Given the description of an element on the screen output the (x, y) to click on. 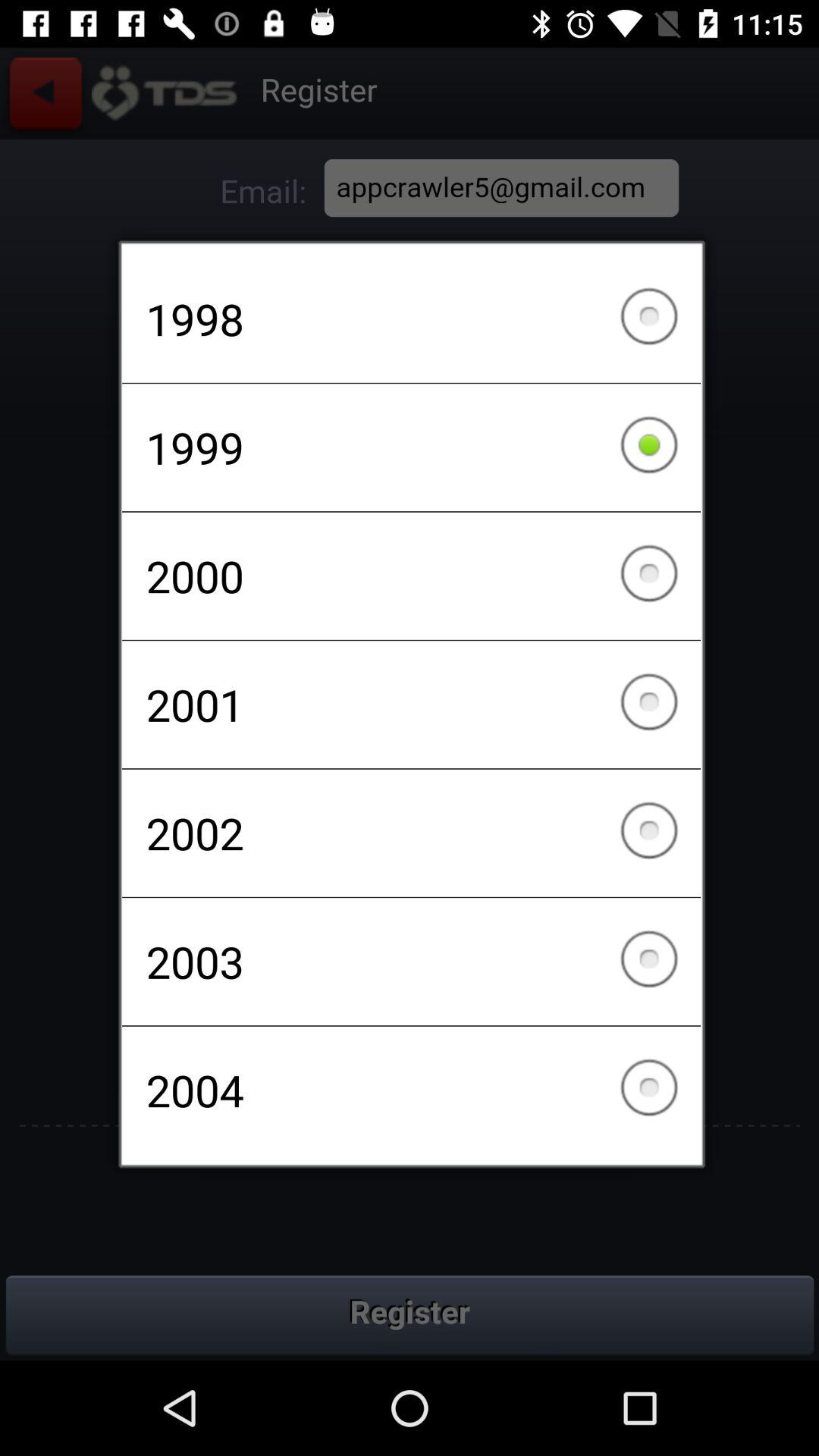
open the 2004 checkbox (411, 1089)
